Given the description of an element on the screen output the (x, y) to click on. 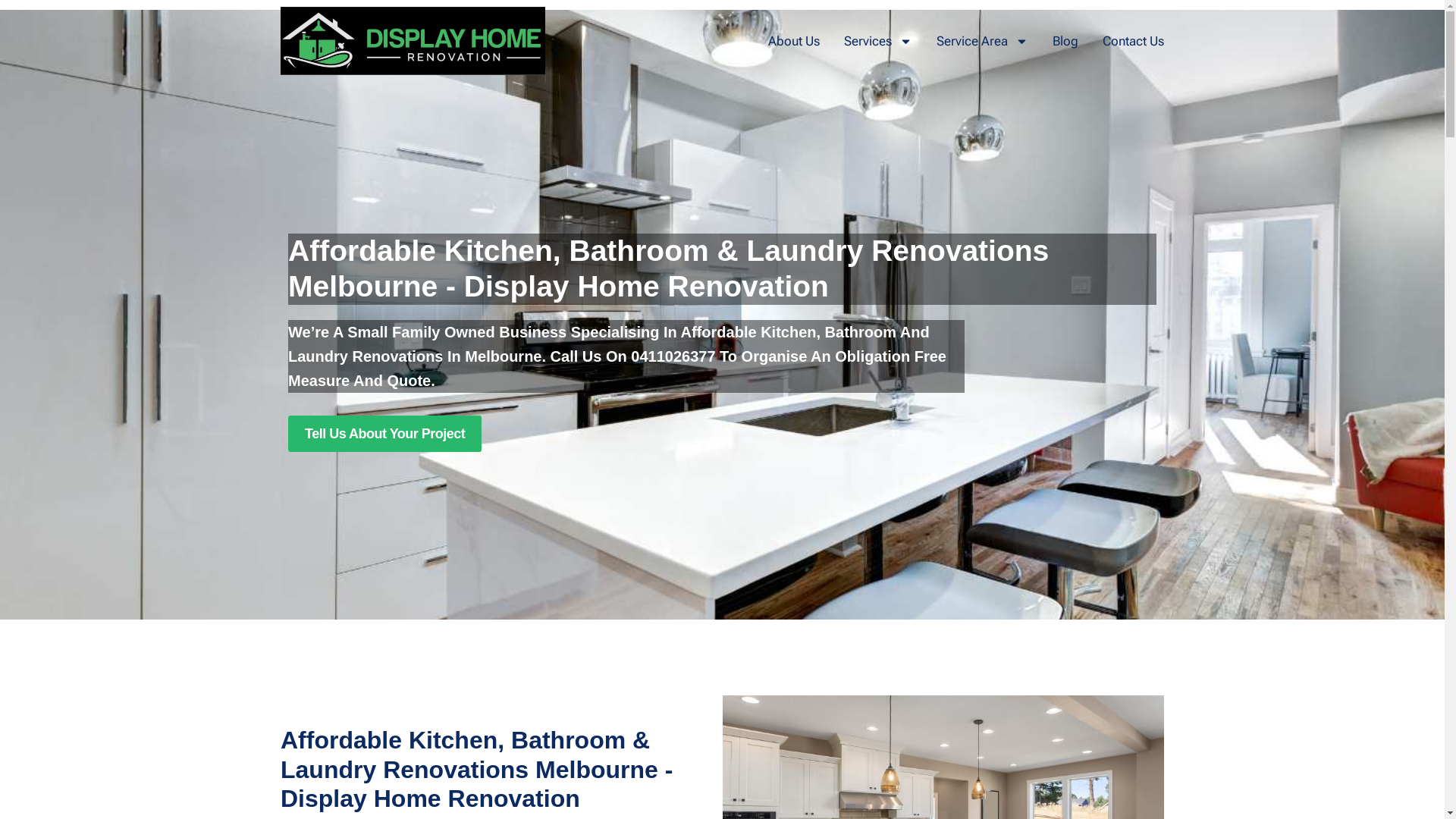
Services Element type: text (878, 40)
Service Area Element type: text (982, 40)
Tell Us About Your Project Element type: text (384, 433)
Contact Us Element type: text (1133, 40)
Blog Element type: text (1065, 40)
About Us Element type: text (793, 40)
